Given the description of an element on the screen output the (x, y) to click on. 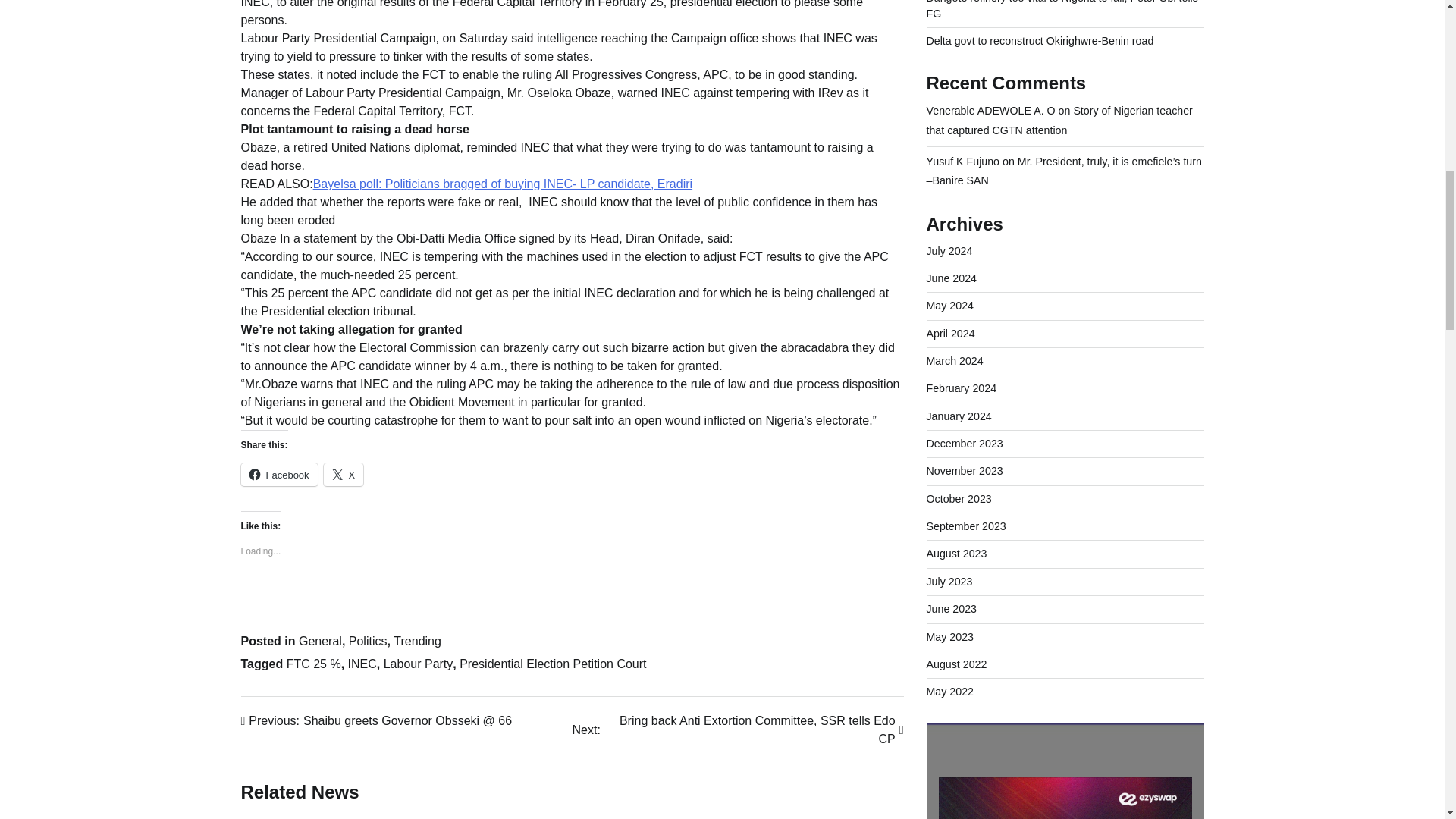
Click to share on X (343, 474)
INEC (362, 662)
Presidential Election Petition Court (553, 662)
Trending (417, 640)
X (343, 474)
General (737, 729)
Like or Reblog (320, 640)
Labour Party (572, 603)
Click to share on Facebook (418, 662)
Politics (279, 474)
Facebook (368, 640)
